Given the description of an element on the screen output the (x, y) to click on. 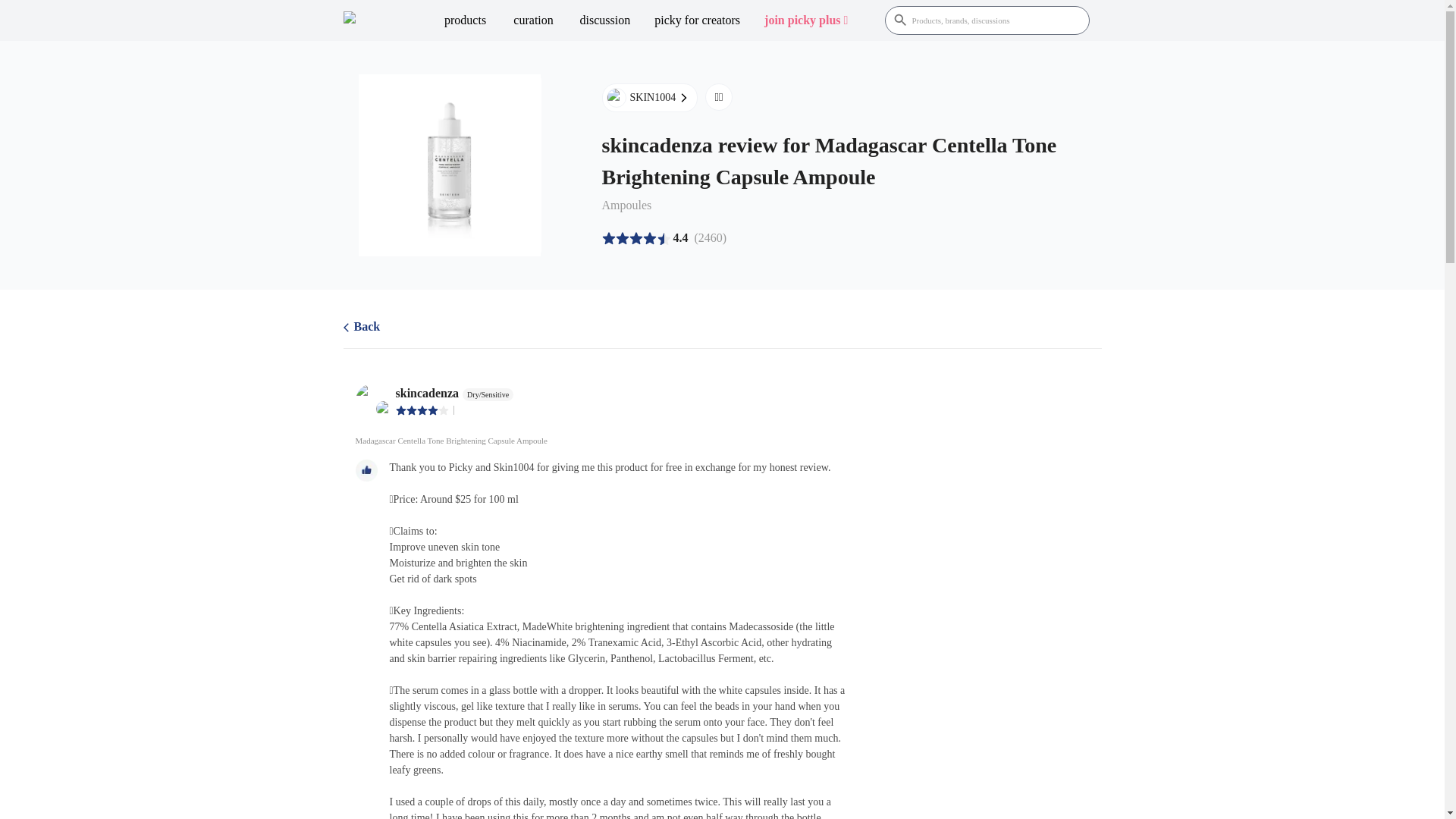
products (464, 20)
Back (361, 327)
curation (533, 20)
picky for creators (697, 20)
discussion (605, 20)
